Given the description of an element on the screen output the (x, y) to click on. 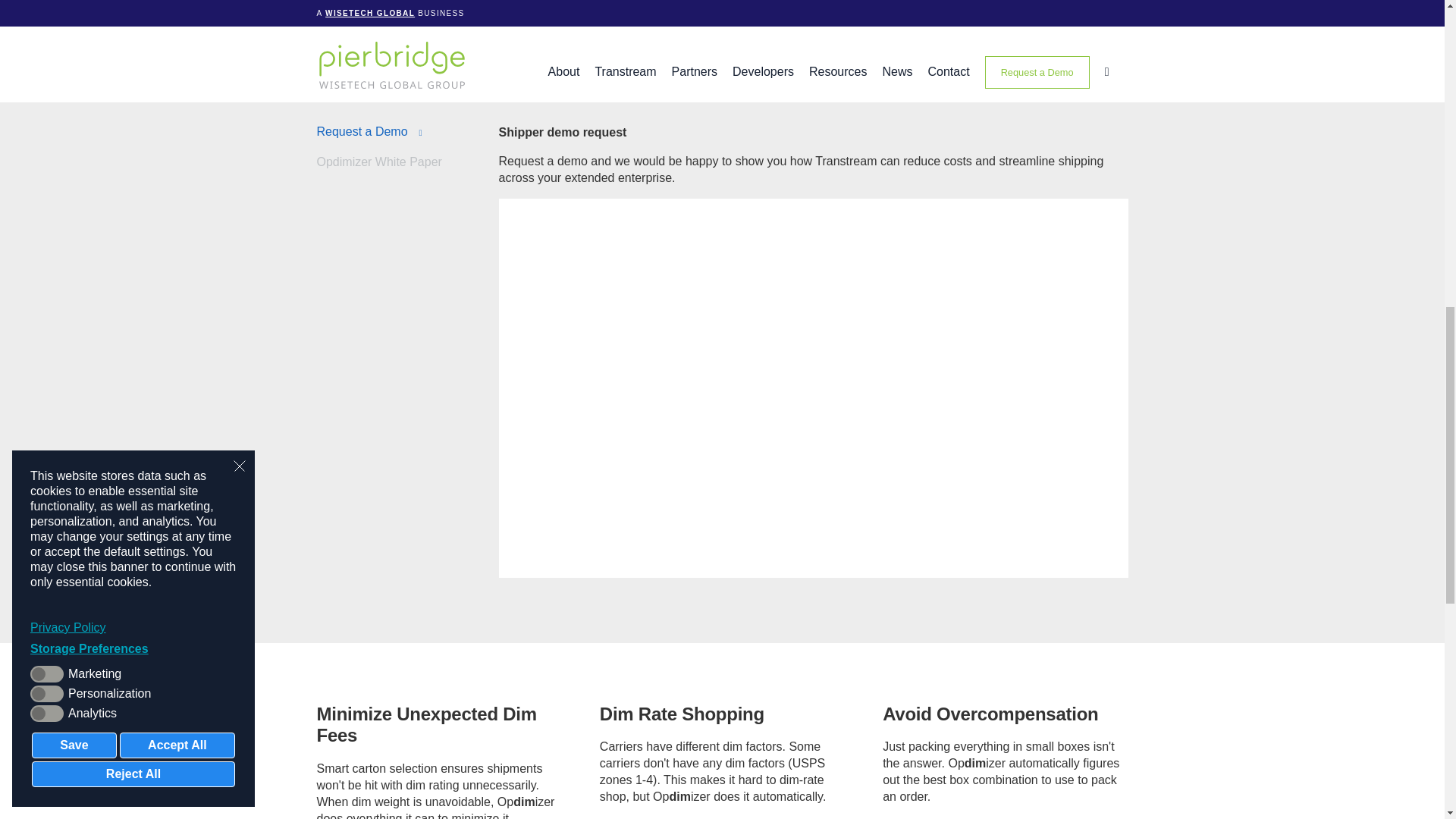
Opdimizer White Paper (408, 162)
Request a Demo (408, 132)
